Given the description of an element on the screen output the (x, y) to click on. 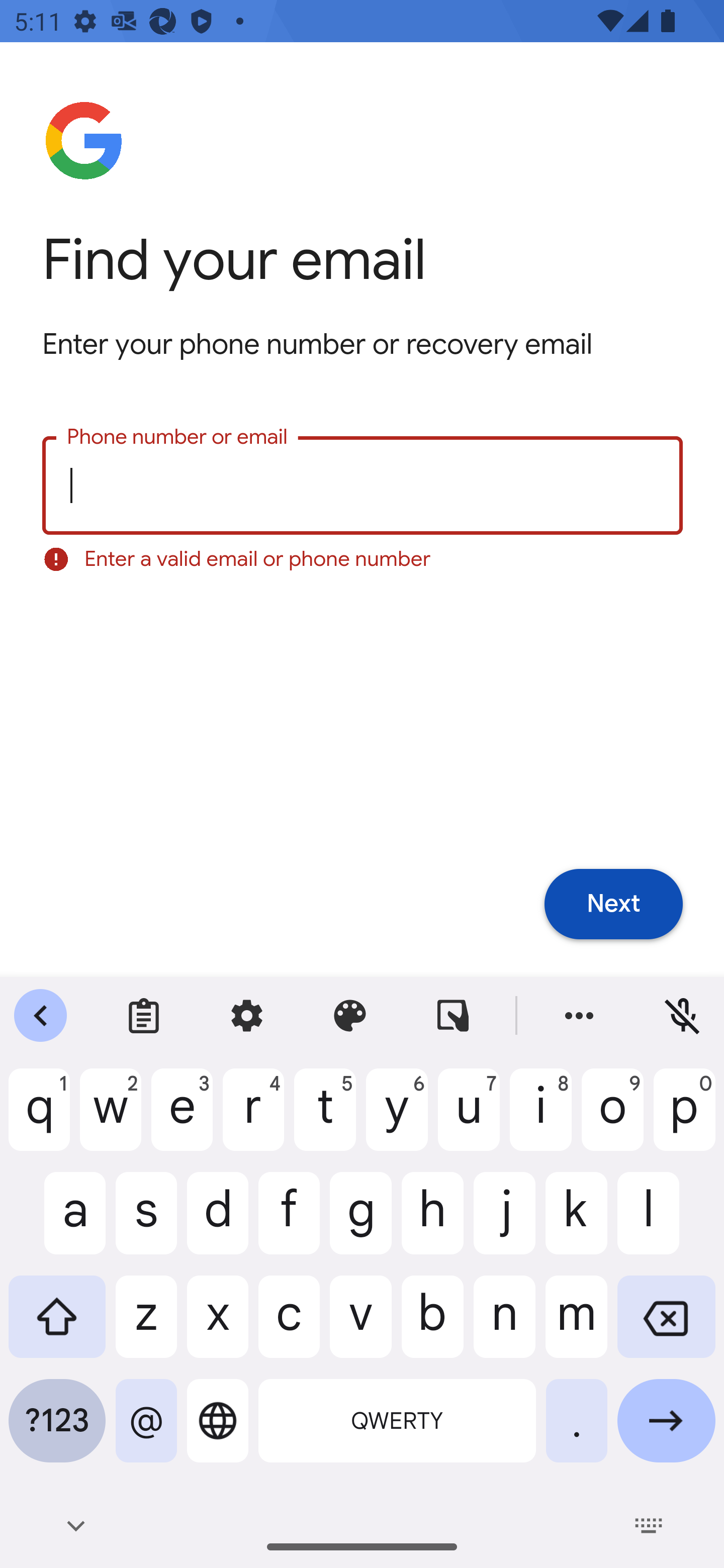
Next (613, 904)
